Given the description of an element on the screen output the (x, y) to click on. 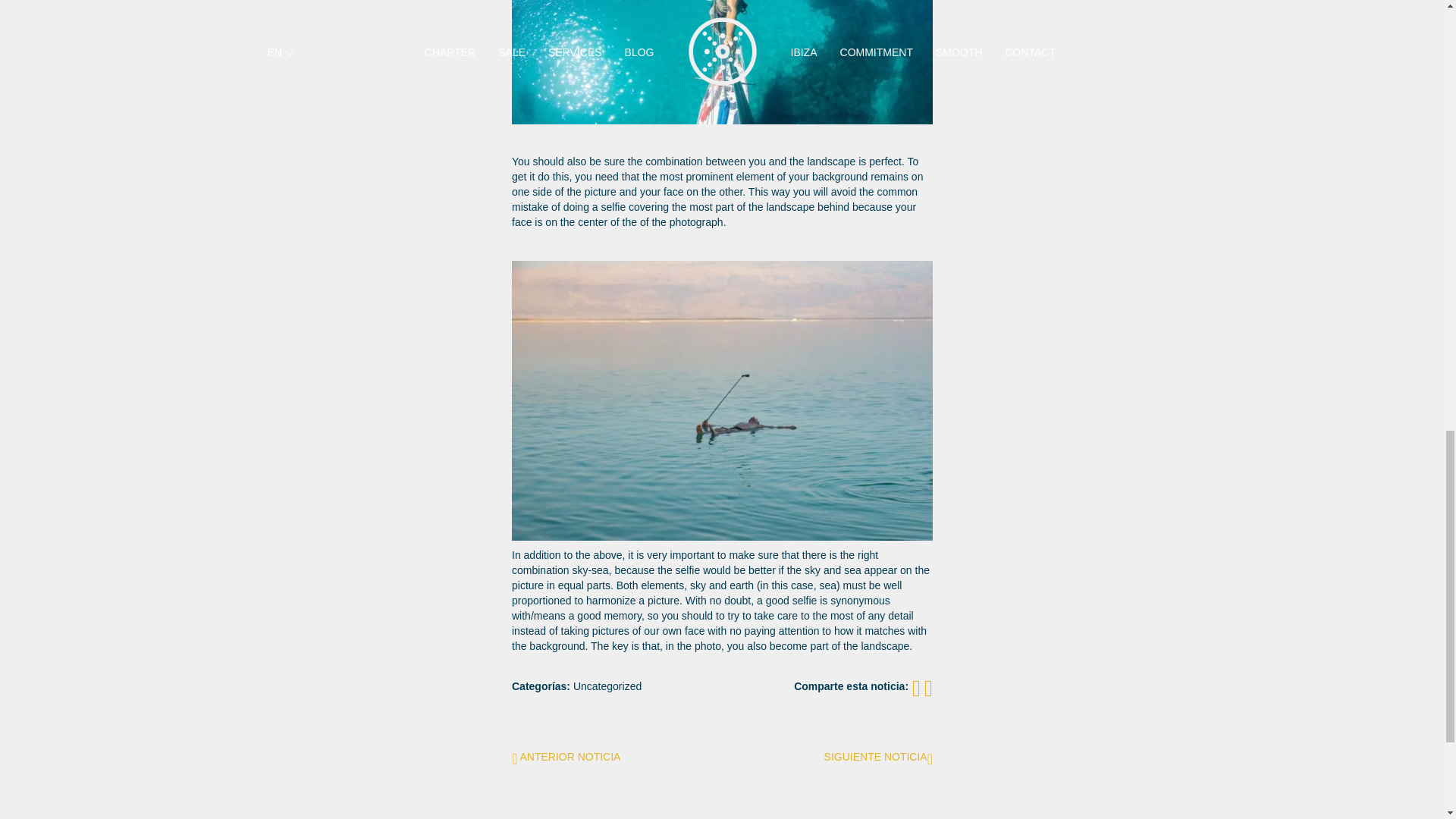
SIGUIENTE NOTICIA (878, 755)
ANTERIOR NOTICIA (566, 755)
Nautical basic concepts for dummies (878, 755)
